Given the description of an element on the screen output the (x, y) to click on. 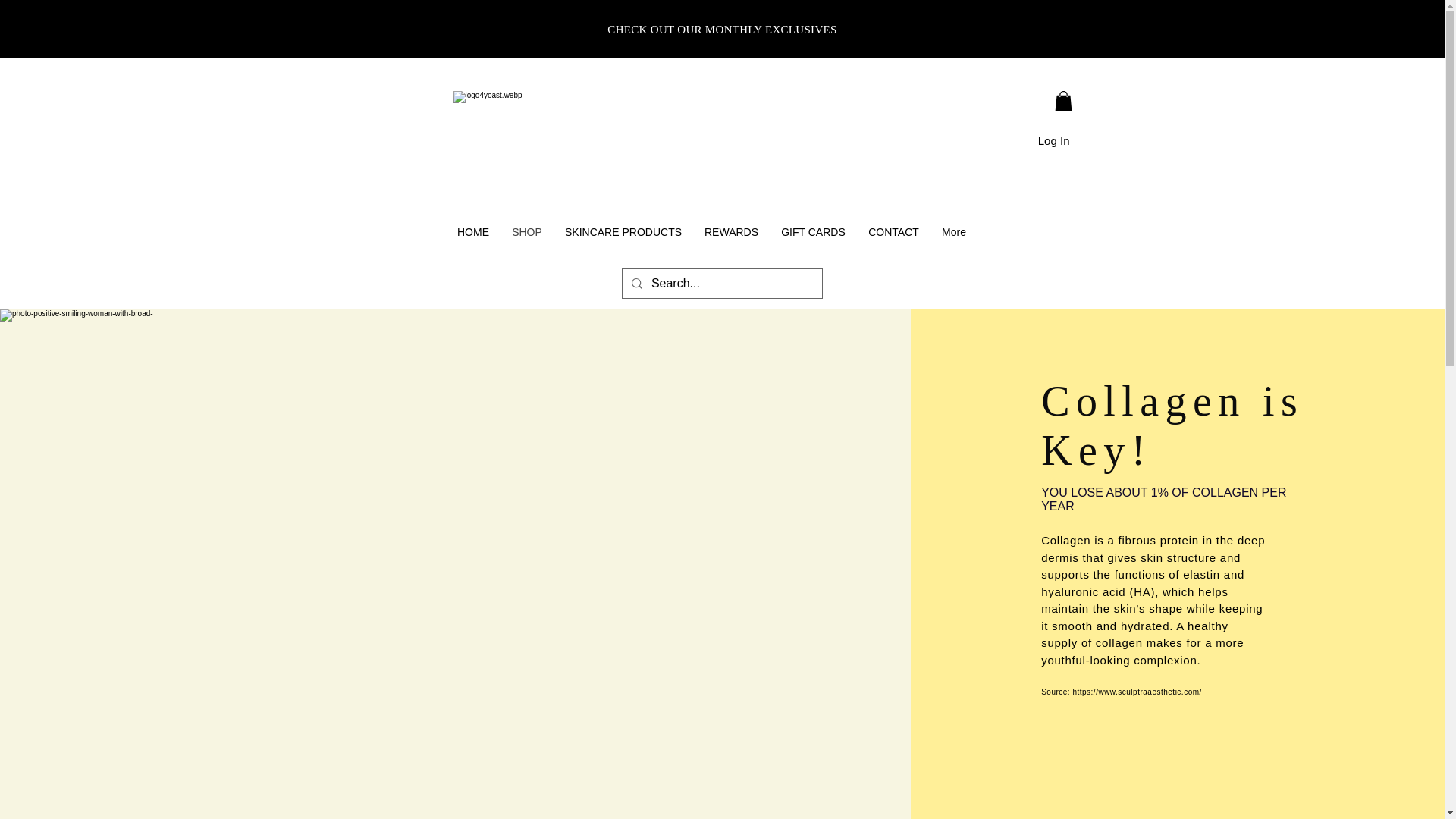
REWARDS (731, 231)
SHOP (526, 231)
GIFT CARDS (813, 231)
CHECK OUT OUR MONTHLY EXCLUSIVES (721, 29)
Log In (1053, 140)
210.600.3335 (1156, 25)
SKINCARE PRODUCTS (623, 231)
HOME (472, 231)
CONTACT (893, 231)
